Given the description of an element on the screen output the (x, y) to click on. 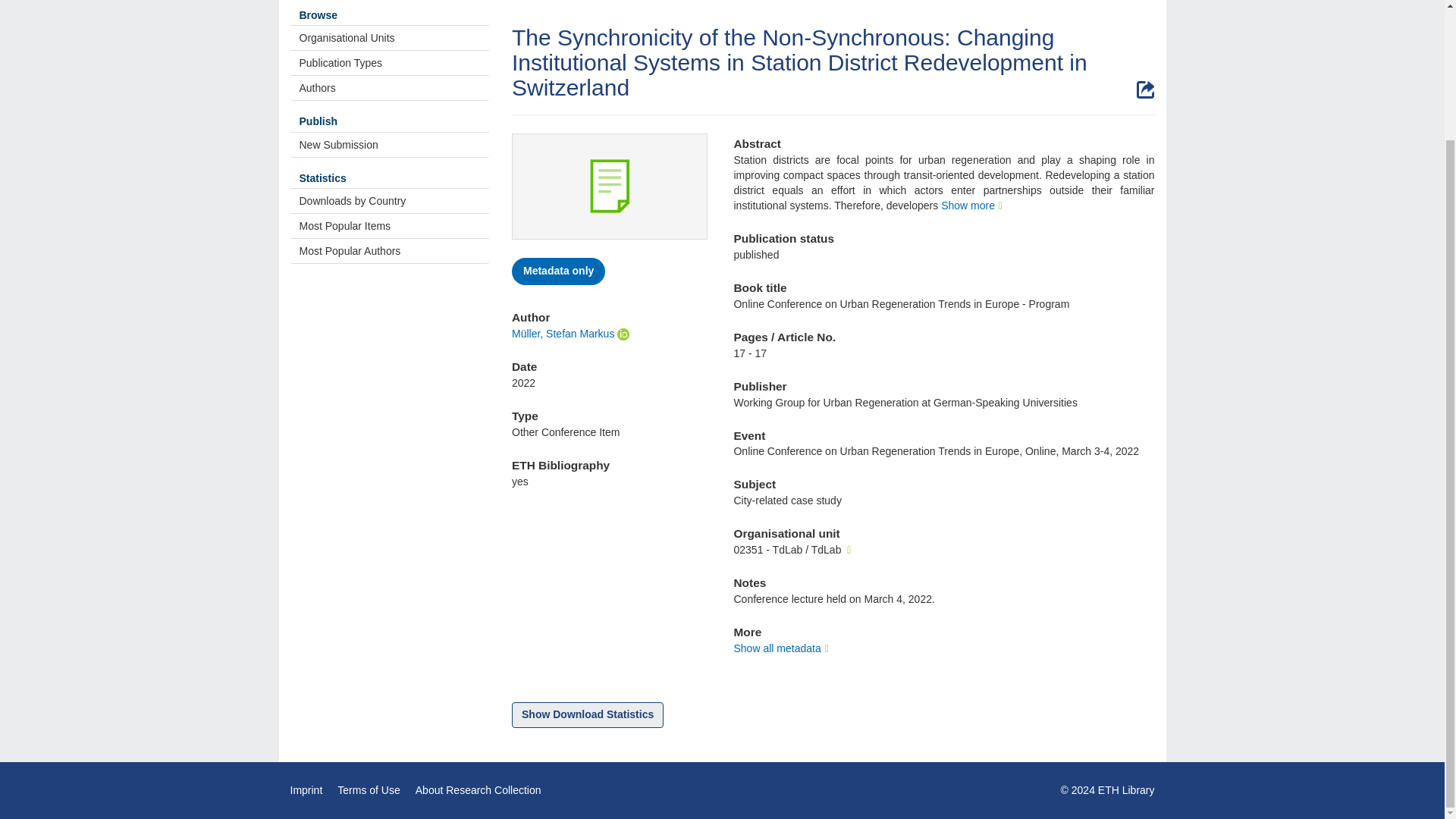
Show more (973, 205)
Publication Types (389, 62)
Authors (389, 87)
Organisational Units (389, 37)
About Research Collection (477, 789)
Show all metadata (782, 648)
Most Popular Authors (389, 250)
Imprint (305, 789)
Most Popular Items (389, 225)
New Submission (389, 144)
Terms of Use (367, 789)
Show Download Statistics (587, 714)
Downloads by Country (389, 200)
